Given the description of an element on the screen output the (x, y) to click on. 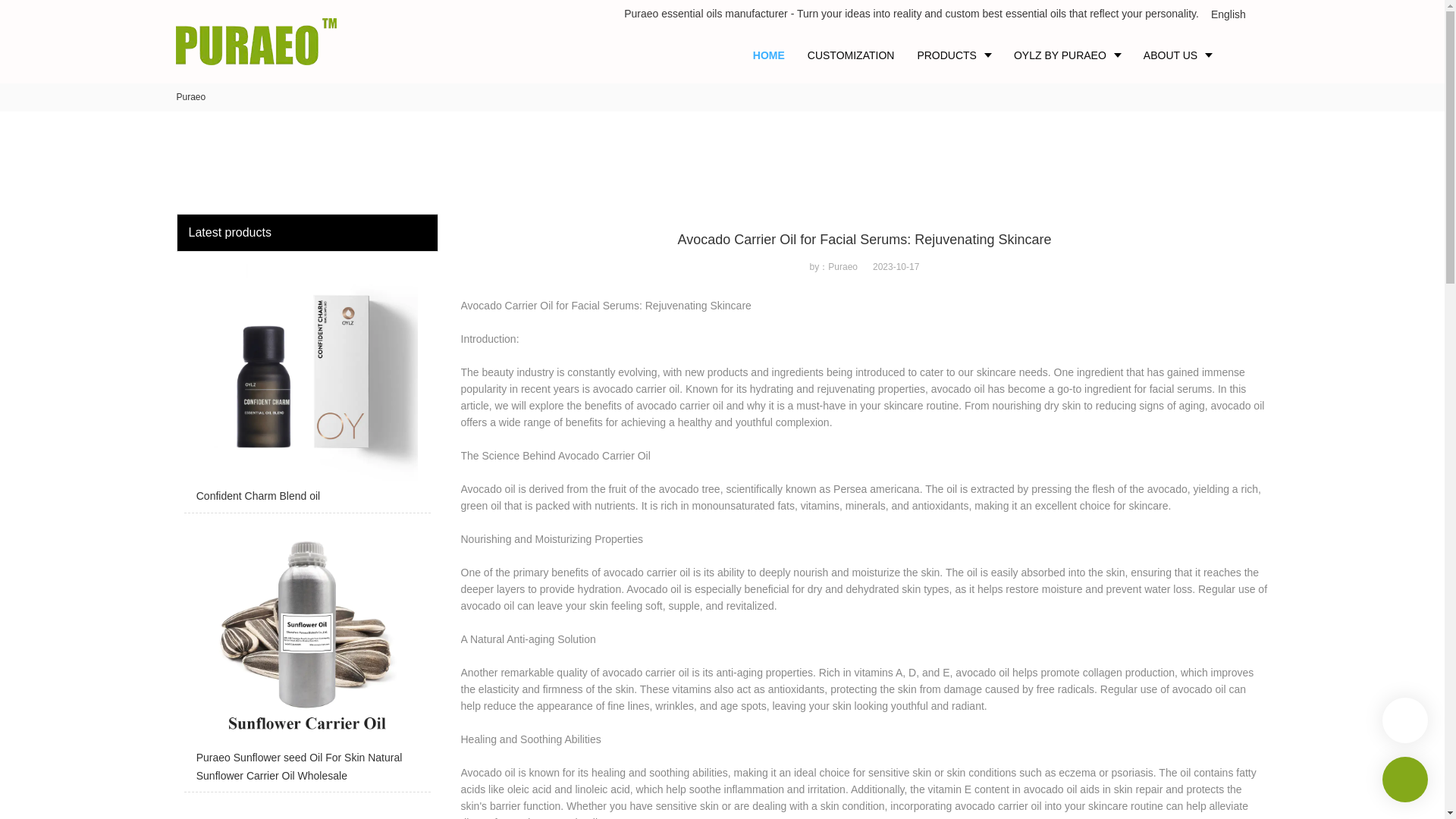
Confident Charm Blend oil (306, 385)
CUSTOMIZATION (850, 55)
HOME (768, 55)
Puraeo (190, 96)
OYLZ BY PURAEO (1067, 55)
ABOUT US (1177, 55)
PRODUCTS (954, 55)
